Given the description of an element on the screen output the (x, y) to click on. 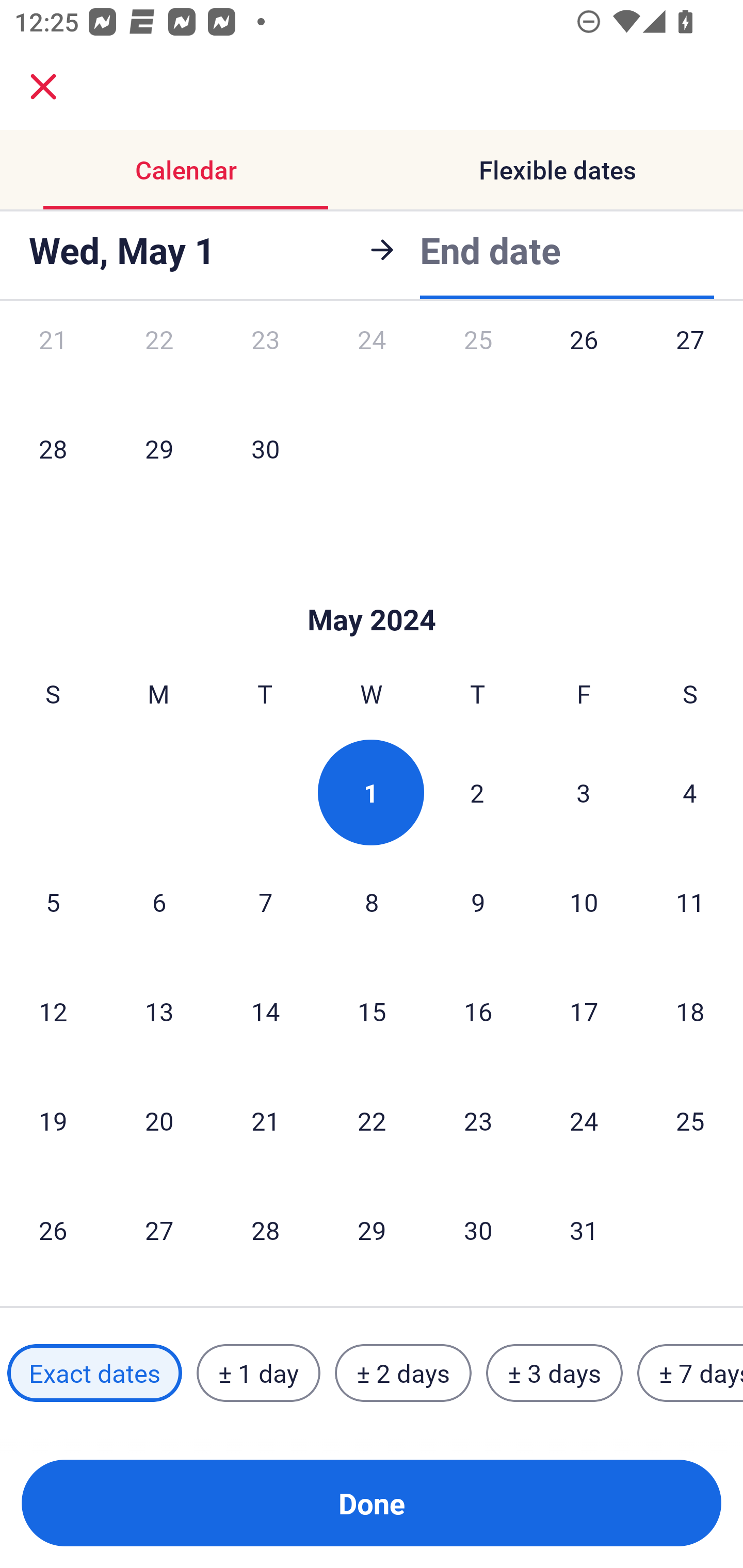
close. (43, 86)
Flexible dates (557, 170)
End date (489, 246)
21 Sunday, April 21, 2024 (53, 361)
22 Monday, April 22, 2024 (159, 361)
23 Tuesday, April 23, 2024 (265, 361)
24 Wednesday, April 24, 2024 (371, 361)
25 Thursday, April 25, 2024 (477, 361)
26 Friday, April 26, 2024 (584, 361)
27 Saturday, April 27, 2024 (690, 361)
28 Sunday, April 28, 2024 (53, 448)
29 Monday, April 29, 2024 (159, 448)
30 Tuesday, April 30, 2024 (265, 448)
Skip to Done (371, 588)
2 Thursday, May 2, 2024 (477, 792)
3 Friday, May 3, 2024 (583, 792)
4 Saturday, May 4, 2024 (689, 792)
5 Sunday, May 5, 2024 (53, 901)
6 Monday, May 6, 2024 (159, 901)
7 Tuesday, May 7, 2024 (265, 901)
8 Wednesday, May 8, 2024 (371, 901)
9 Thursday, May 9, 2024 (477, 901)
10 Friday, May 10, 2024 (584, 901)
11 Saturday, May 11, 2024 (690, 901)
12 Sunday, May 12, 2024 (53, 1011)
13 Monday, May 13, 2024 (159, 1011)
14 Tuesday, May 14, 2024 (265, 1011)
15 Wednesday, May 15, 2024 (371, 1011)
16 Thursday, May 16, 2024 (477, 1011)
17 Friday, May 17, 2024 (584, 1011)
18 Saturday, May 18, 2024 (690, 1011)
19 Sunday, May 19, 2024 (53, 1119)
20 Monday, May 20, 2024 (159, 1119)
21 Tuesday, May 21, 2024 (265, 1119)
22 Wednesday, May 22, 2024 (371, 1119)
23 Thursday, May 23, 2024 (477, 1119)
24 Friday, May 24, 2024 (584, 1119)
25 Saturday, May 25, 2024 (690, 1119)
26 Sunday, May 26, 2024 (53, 1229)
27 Monday, May 27, 2024 (159, 1229)
28 Tuesday, May 28, 2024 (265, 1229)
29 Wednesday, May 29, 2024 (371, 1229)
30 Thursday, May 30, 2024 (477, 1229)
31 Friday, May 31, 2024 (584, 1229)
Exact dates (94, 1372)
± 1 day (258, 1372)
± 2 days (403, 1372)
± 3 days (553, 1372)
± 7 days (690, 1372)
Done (371, 1502)
